Given the description of an element on the screen output the (x, y) to click on. 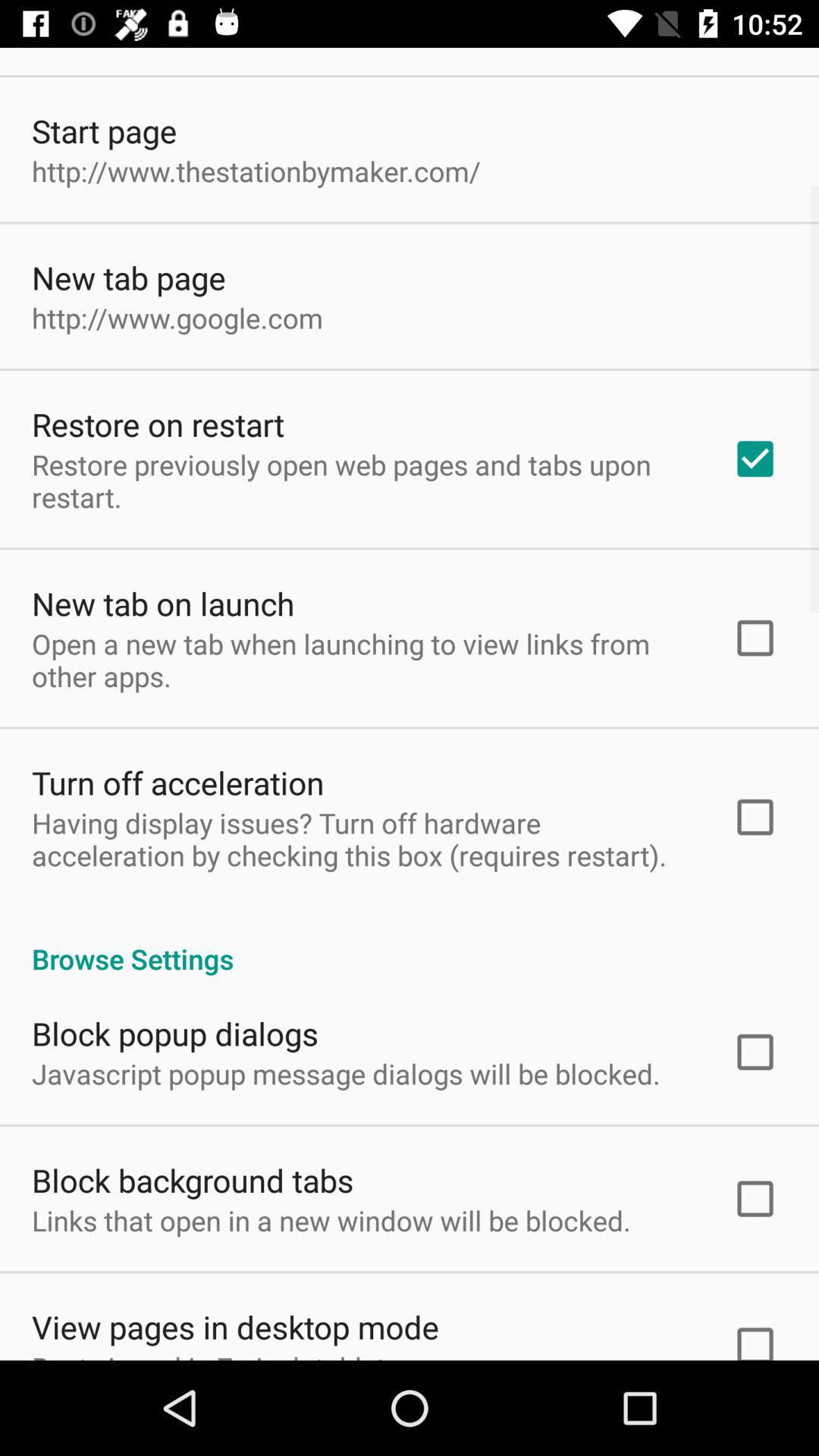
tap restore previously open app (361, 480)
